Given the description of an element on the screen output the (x, y) to click on. 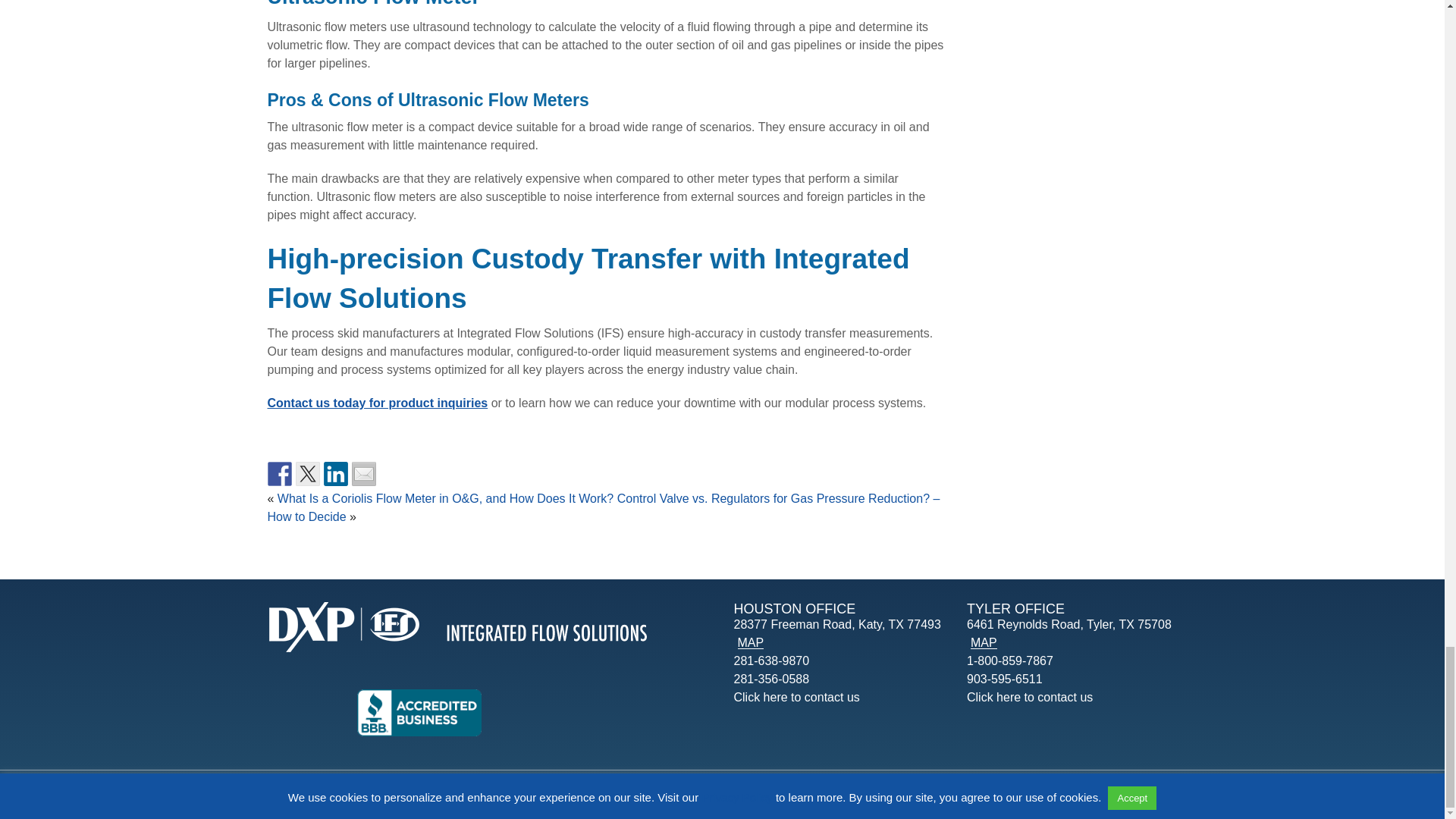
Integrated Flow Solutions (456, 629)
Share on Linkedin (335, 473)
Share on Twitter (307, 473)
Share on Facebook (278, 473)
Share by email (363, 473)
